Given the description of an element on the screen output the (x, y) to click on. 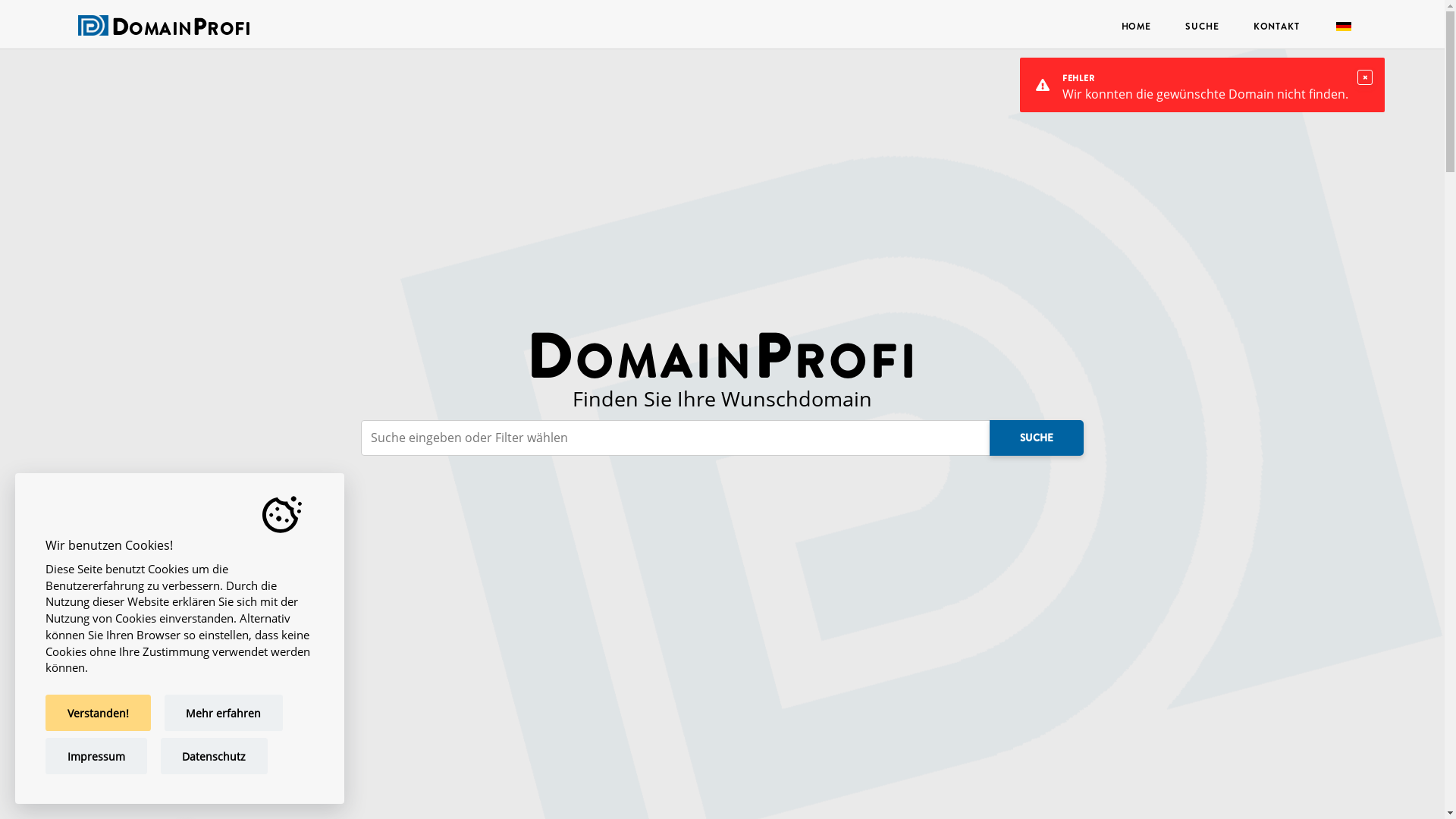
DOMAINPROFI Element type: text (180, 29)
SUCHE Element type: text (1202, 25)
submit Element type: text (50, 17)
Verstanden! Element type: text (97, 712)
Mehr erfahren Element type: text (223, 712)
KONTAKT Element type: text (1276, 25)
SUCHE Element type: text (1036, 437)
HOME Element type: text (1136, 25)
Datenschutz Element type: text (214, 755)
Impressum Element type: text (96, 755)
